Given the description of an element on the screen output the (x, y) to click on. 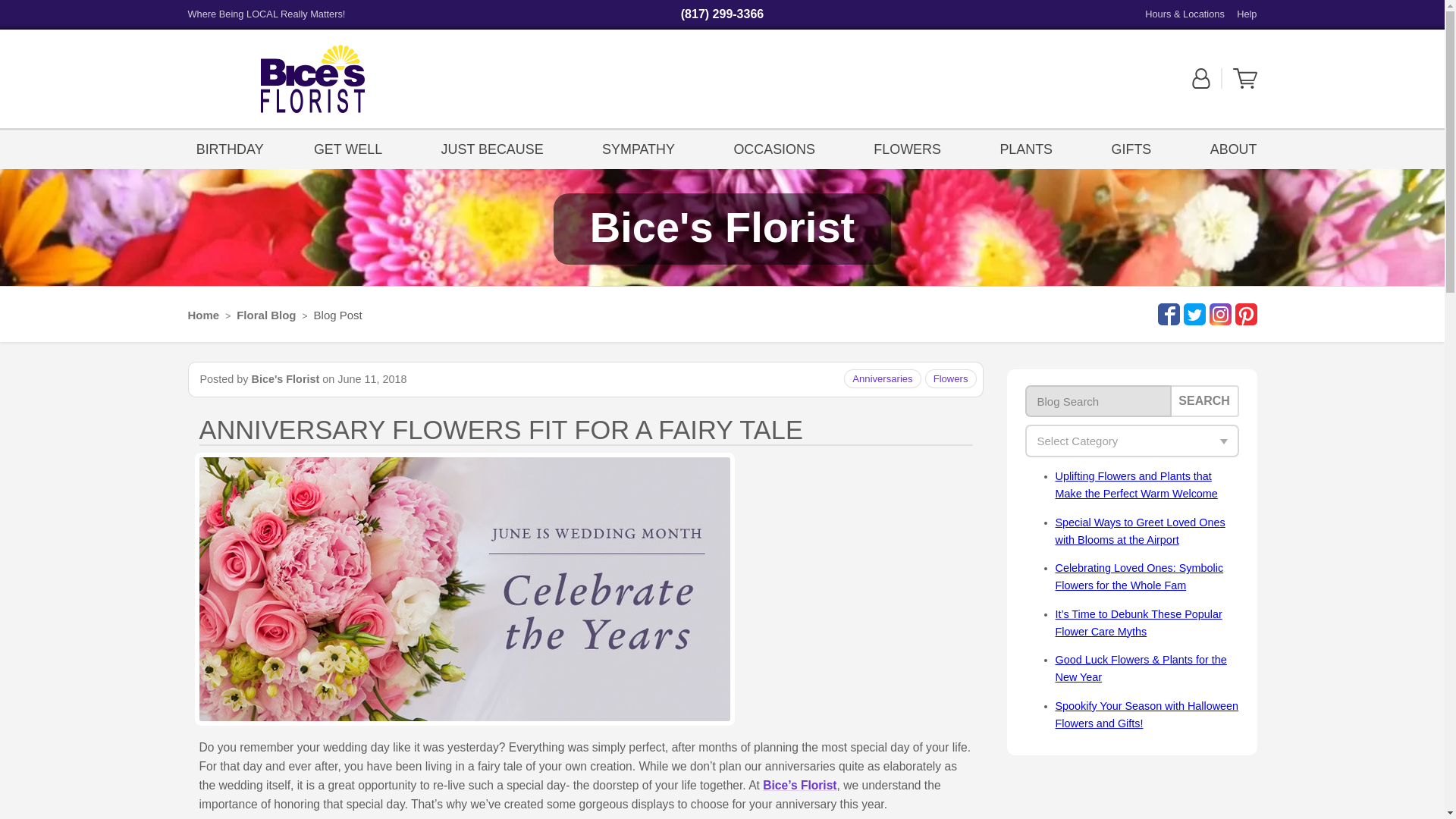
BIRTHDAY (229, 147)
SEARCH (1204, 400)
Help (1246, 13)
Anniversaries (882, 378)
Instagram (1218, 314)
Twitter (1192, 314)
FLOWERS (906, 147)
Shopping Cart (1245, 85)
OCCASIONS (774, 147)
JUST BECAUSE (491, 147)
Home (203, 314)
Shopping Cart (1245, 78)
Bice's Florist Logo (312, 79)
PLANTS (1026, 147)
GET WELL (352, 147)
